Given the description of an element on the screen output the (x, y) to click on. 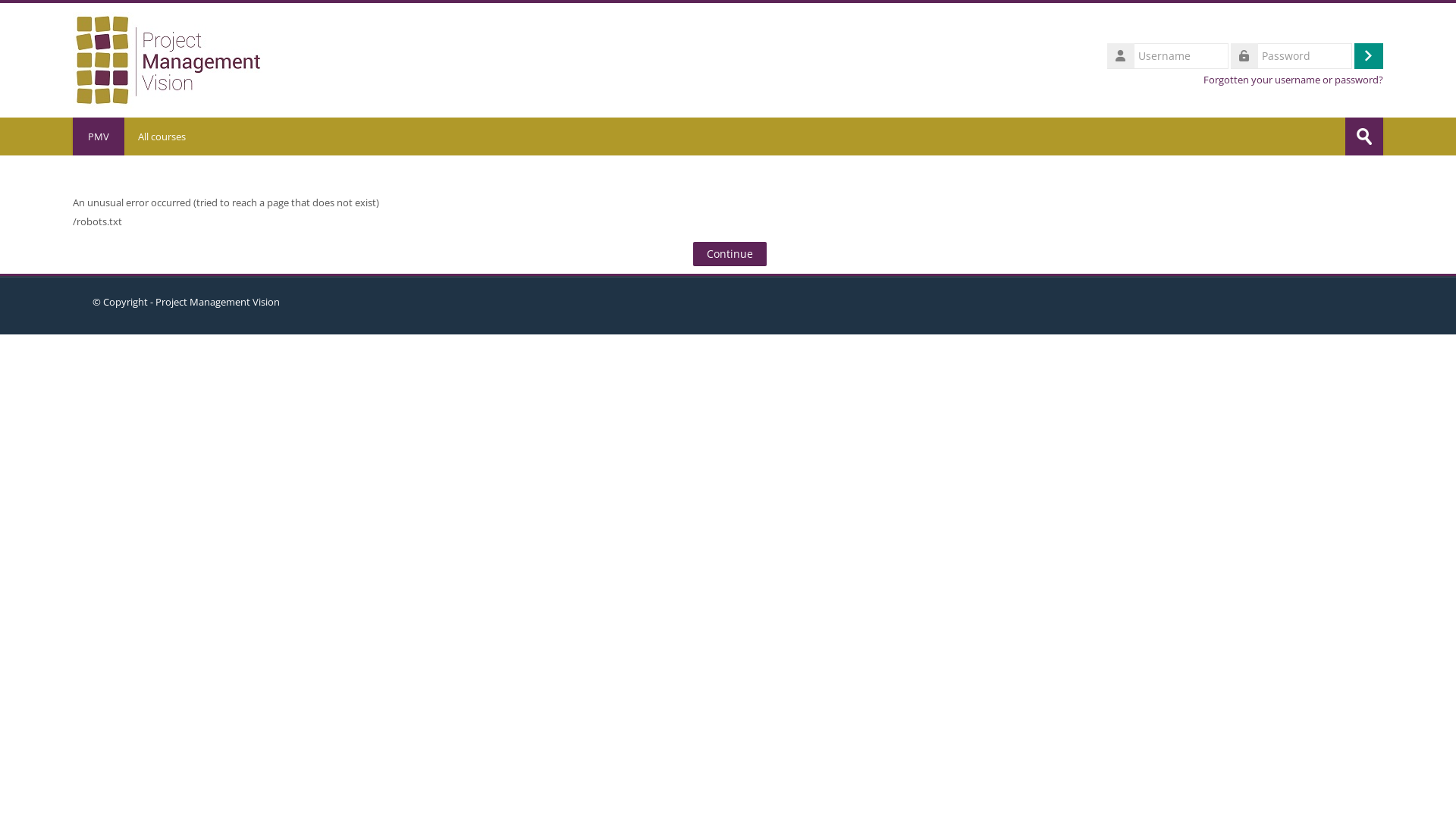
Forgotten your username or password? Element type: text (1293, 78)
All courses Element type: text (161, 136)
Submit Element type: text (1364, 136)
Home Element type: hover (167, 58)
Continue Element type: text (729, 253)
Log in Element type: text (1368, 55)
PMV Element type: text (98, 136)
